Given the description of an element on the screen output the (x, y) to click on. 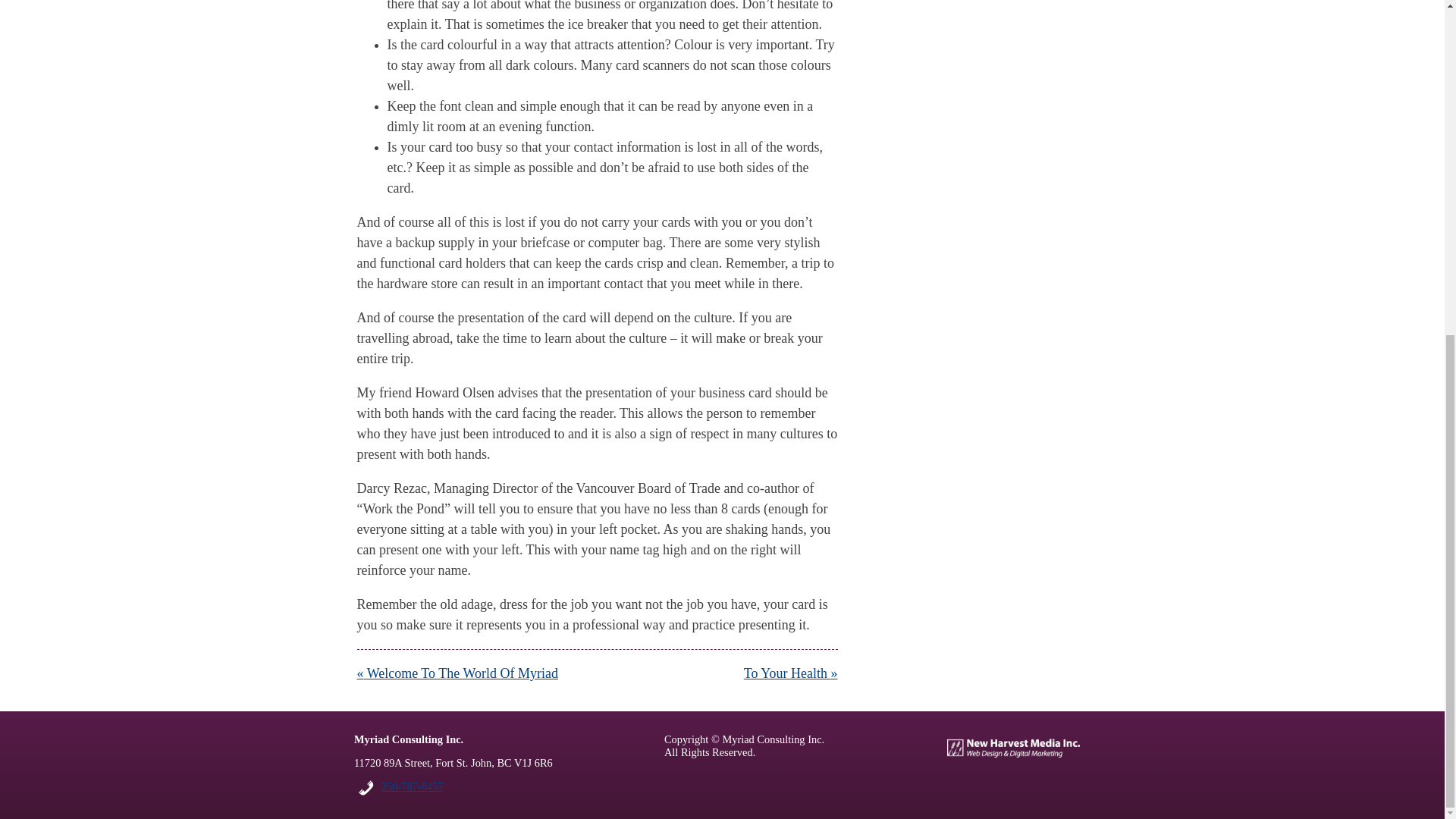
250-787-8457 (412, 786)
